Given the description of an element on the screen output the (x, y) to click on. 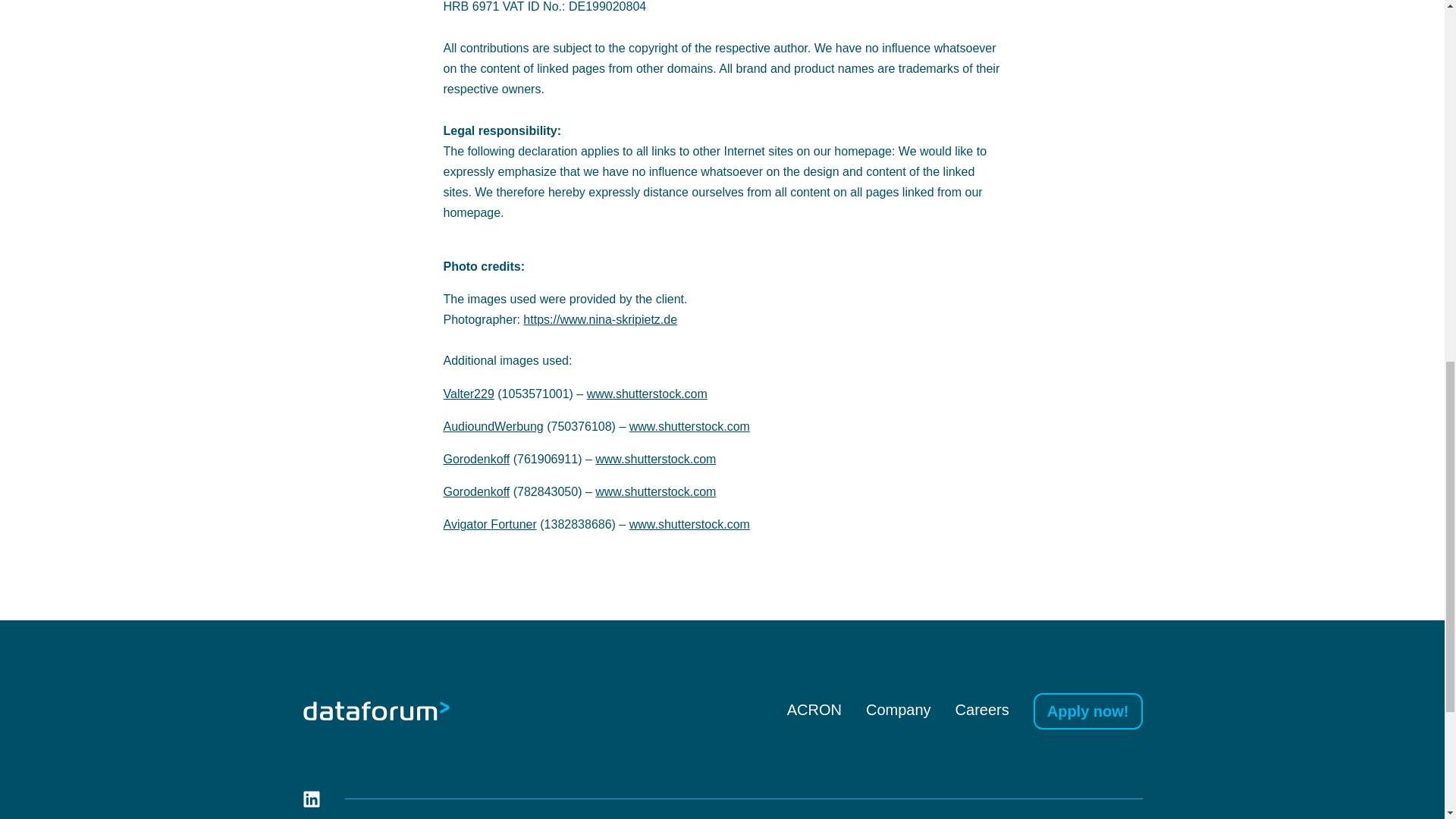
ACRON (814, 709)
Gorodenkoff (475, 459)
www.shutterstock.com (655, 459)
Company (898, 709)
dataforum (375, 710)
AudioundWerbung (492, 426)
Avigator Fortuner (488, 523)
Apply now! (1087, 710)
www.shutterstock.com (688, 523)
www.shutterstock.com (688, 426)
Valter229 (467, 393)
www.shutterstock.com (646, 393)
Gorodenkoff (475, 491)
Careers (982, 709)
www.shutterstock.com (655, 491)
